Given the description of an element on the screen output the (x, y) to click on. 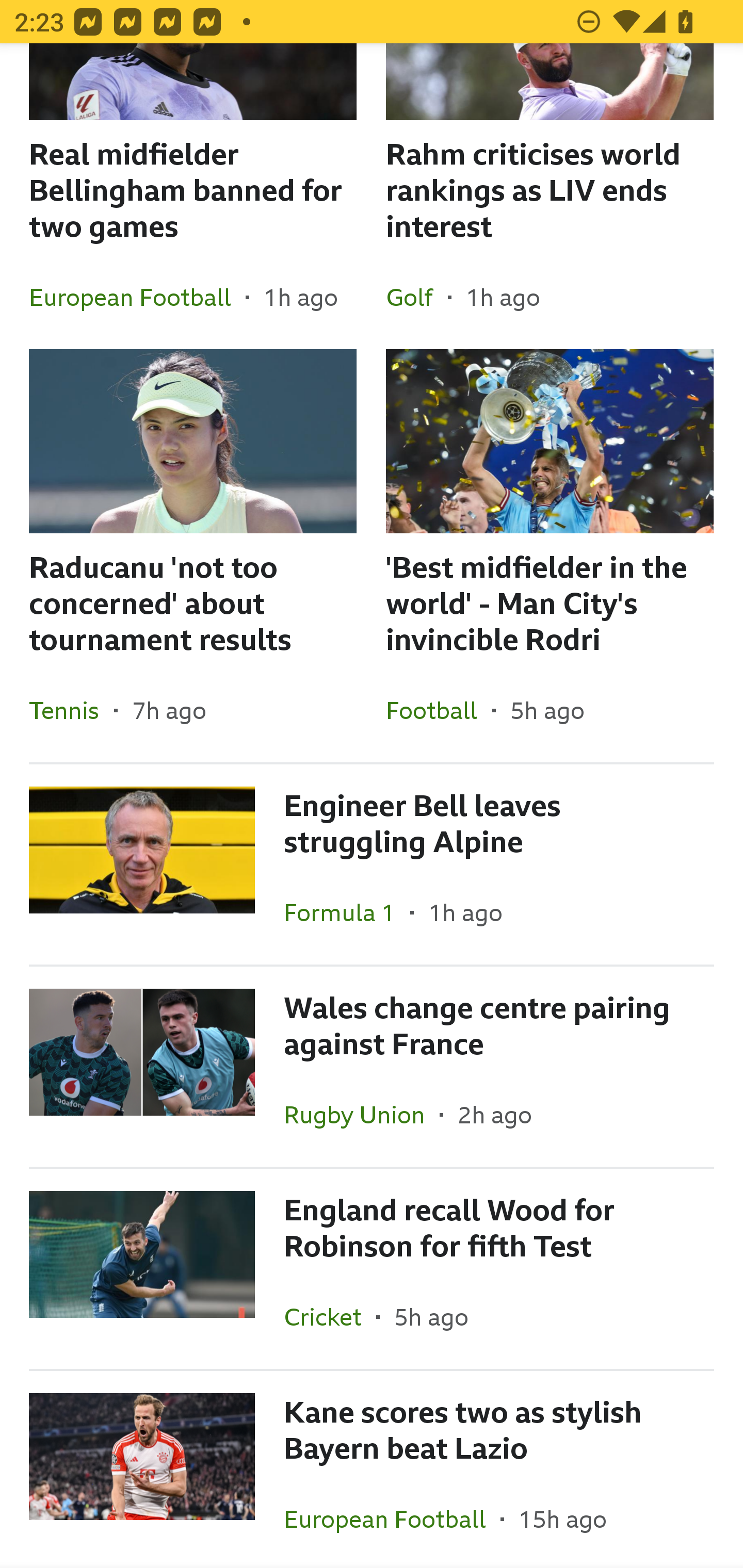
European Football In the section European Football (136, 296)
Golf In the section Golf (416, 296)
Tennis In the section Tennis (70, 710)
Football In the section Football (438, 710)
Formula 1 In the section Formula 1 (346, 912)
Rugby Union In the section Rugby Union (361, 1114)
Cricket In the section Cricket (329, 1316)
European Football In the section European Football (391, 1517)
